Given the description of an element on the screen output the (x, y) to click on. 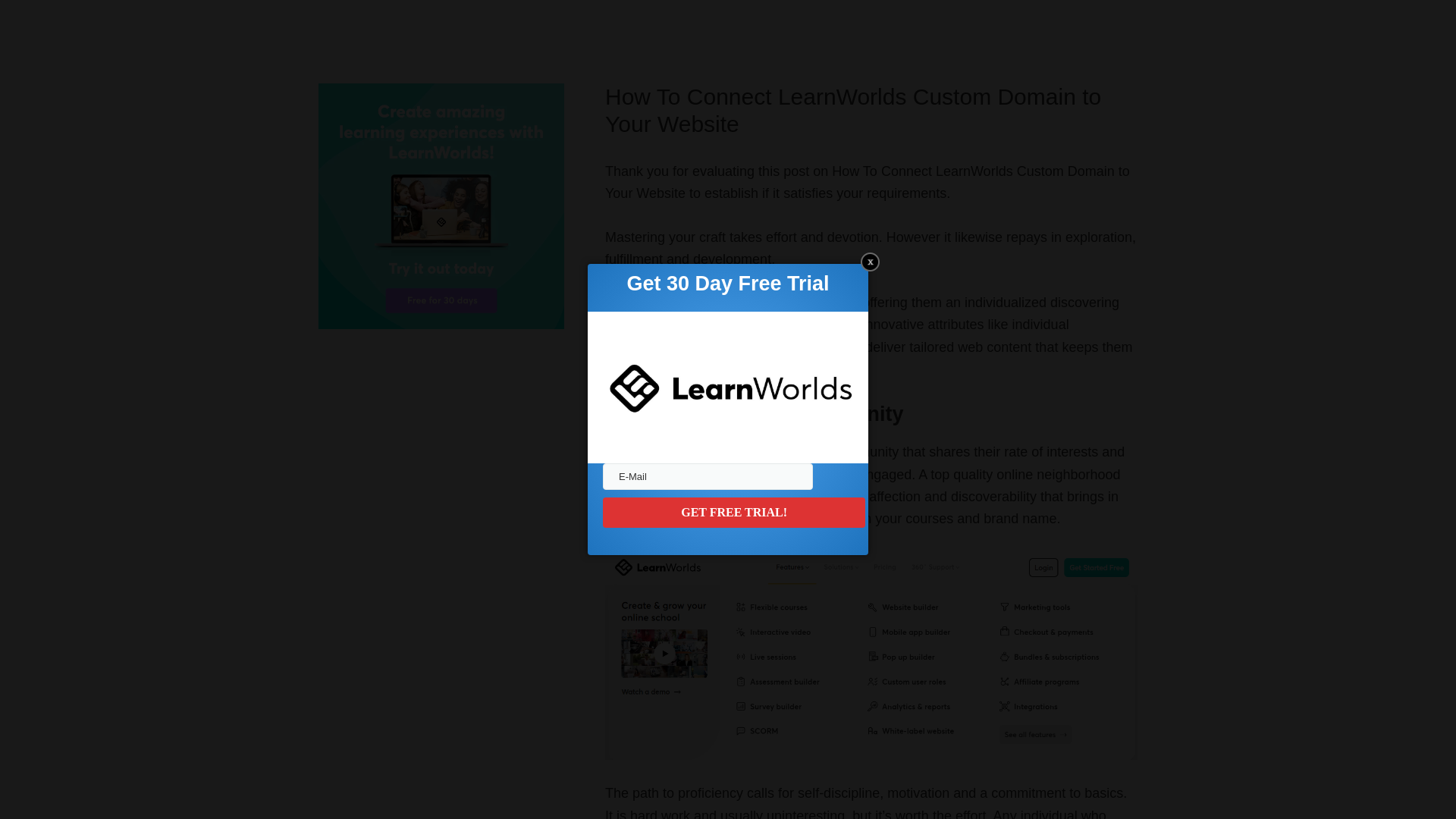
GET FREE TRIAL! (733, 512)
GET FREE TRIAL! (733, 512)
